Given the description of an element on the screen output the (x, y) to click on. 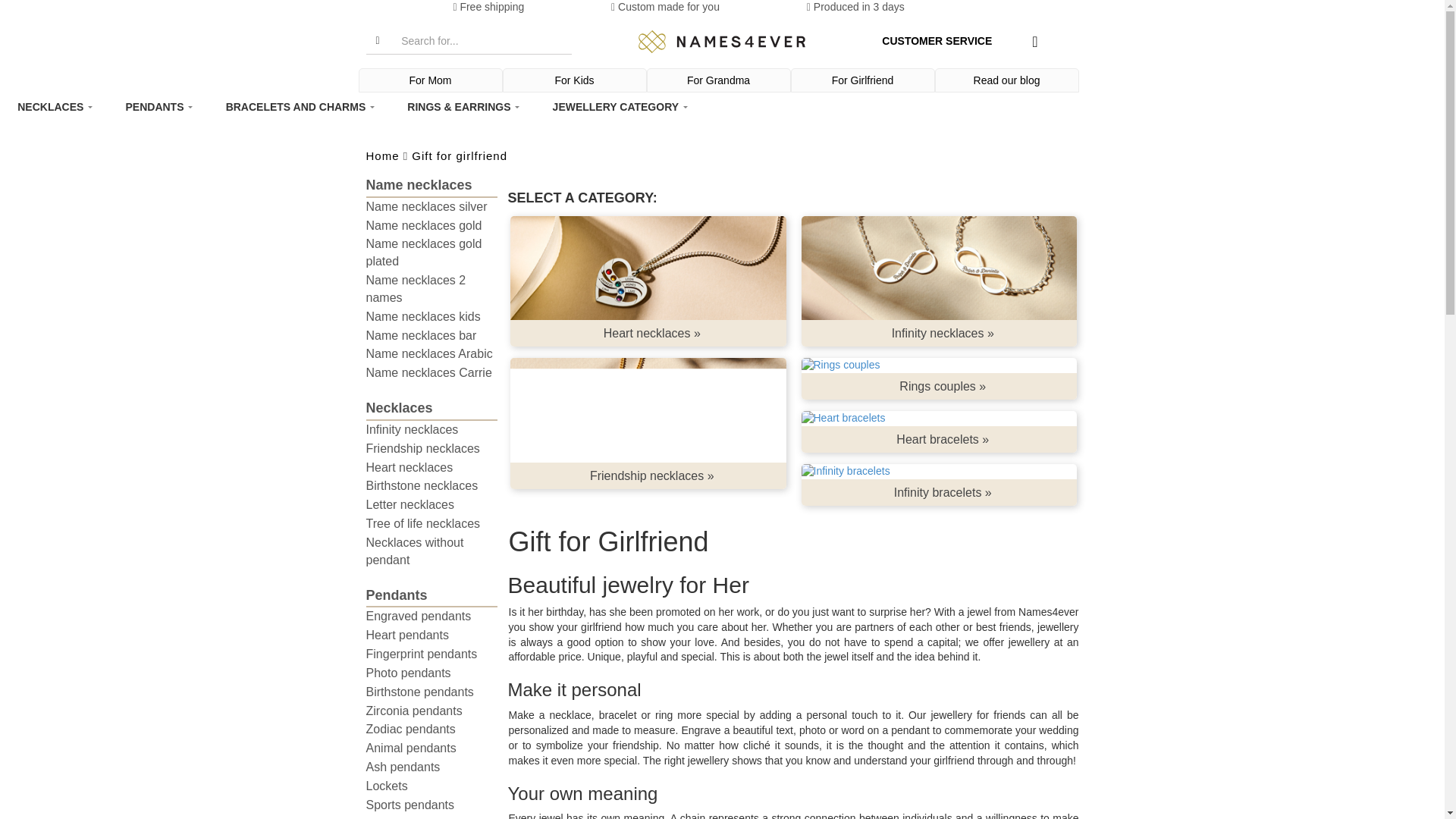
Infinity bracelets (938, 471)
For Mom (430, 79)
For Girlfriend (863, 79)
Heart necklaces (648, 268)
Friendship necklaces (648, 409)
Klantenservice (936, 40)
Home (721, 41)
CUSTOMER SERVICE (936, 40)
For Grandma (718, 79)
For Kids (574, 79)
